Given the description of an element on the screen output the (x, y) to click on. 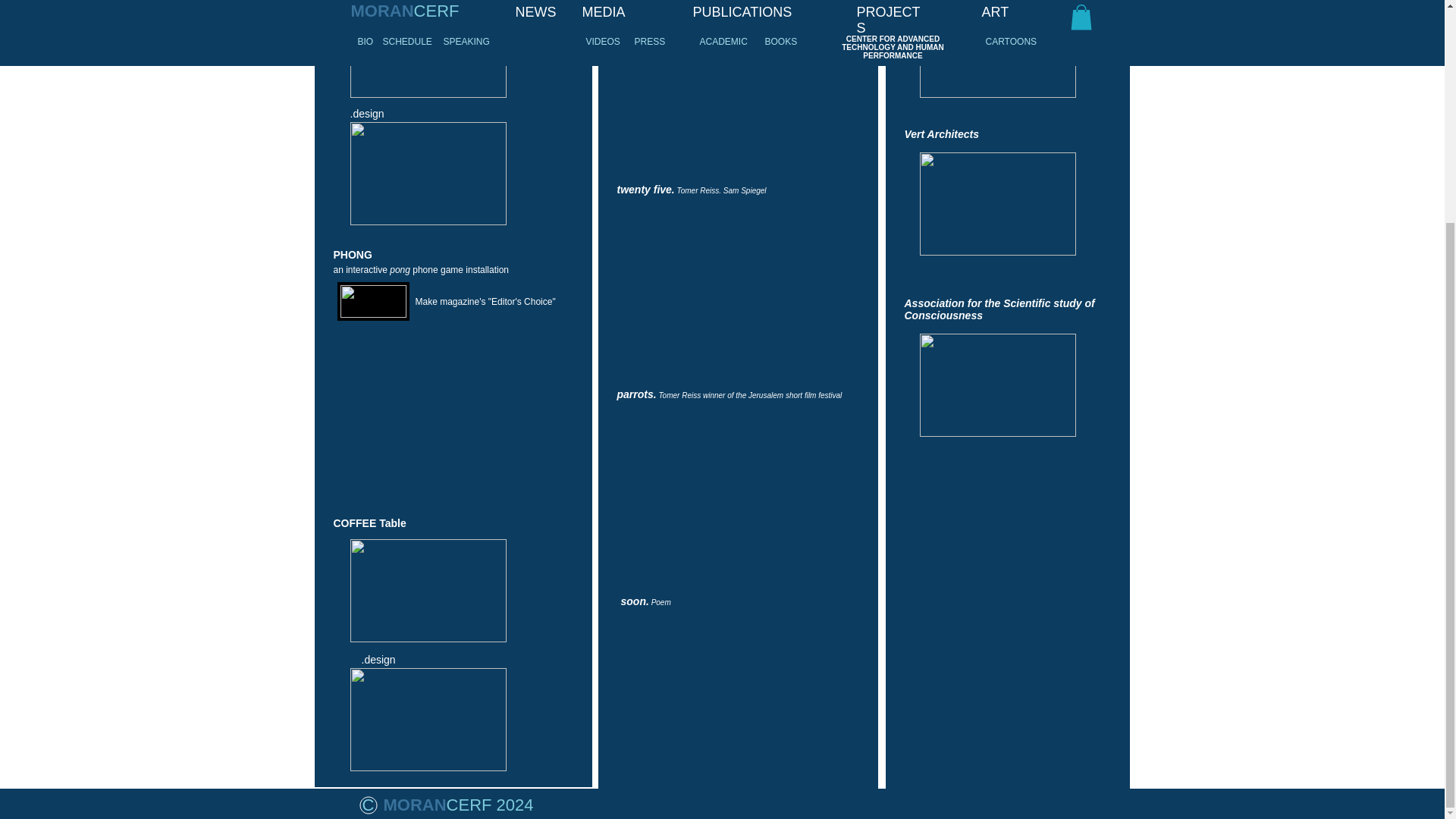
1.jpg (428, 173)
2.jpg (428, 719)
06.jpg (996, 384)
External YouTube (737, 76)
External YouTube (744, 696)
07.gif (996, 48)
MORANCERF 2024 (459, 804)
External YouTube (459, 409)
04.jpg (372, 301)
External YouTube (744, 491)
